Given the description of an element on the screen output the (x, y) to click on. 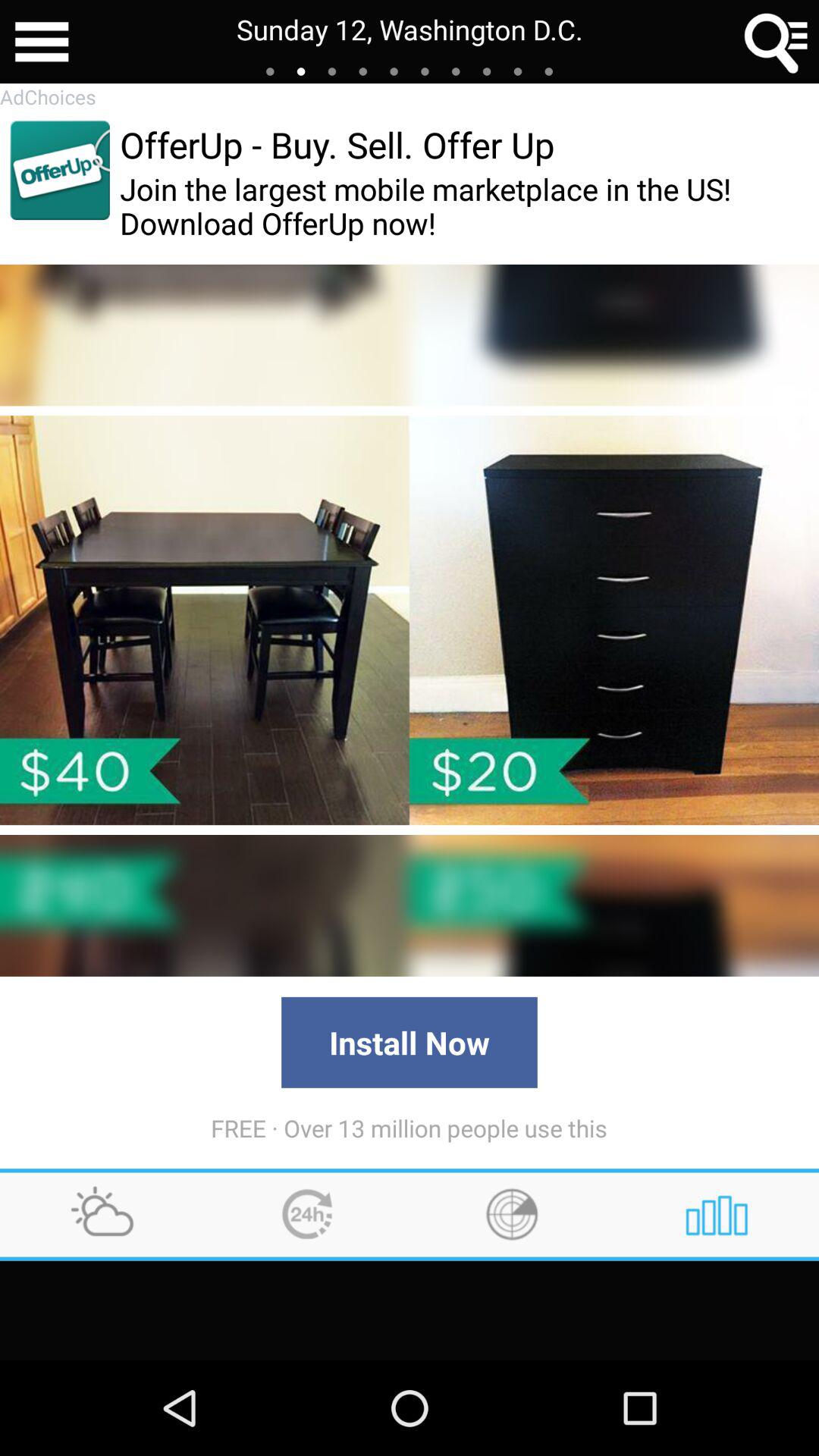
menu (41, 41)
